Given the description of an element on the screen output the (x, y) to click on. 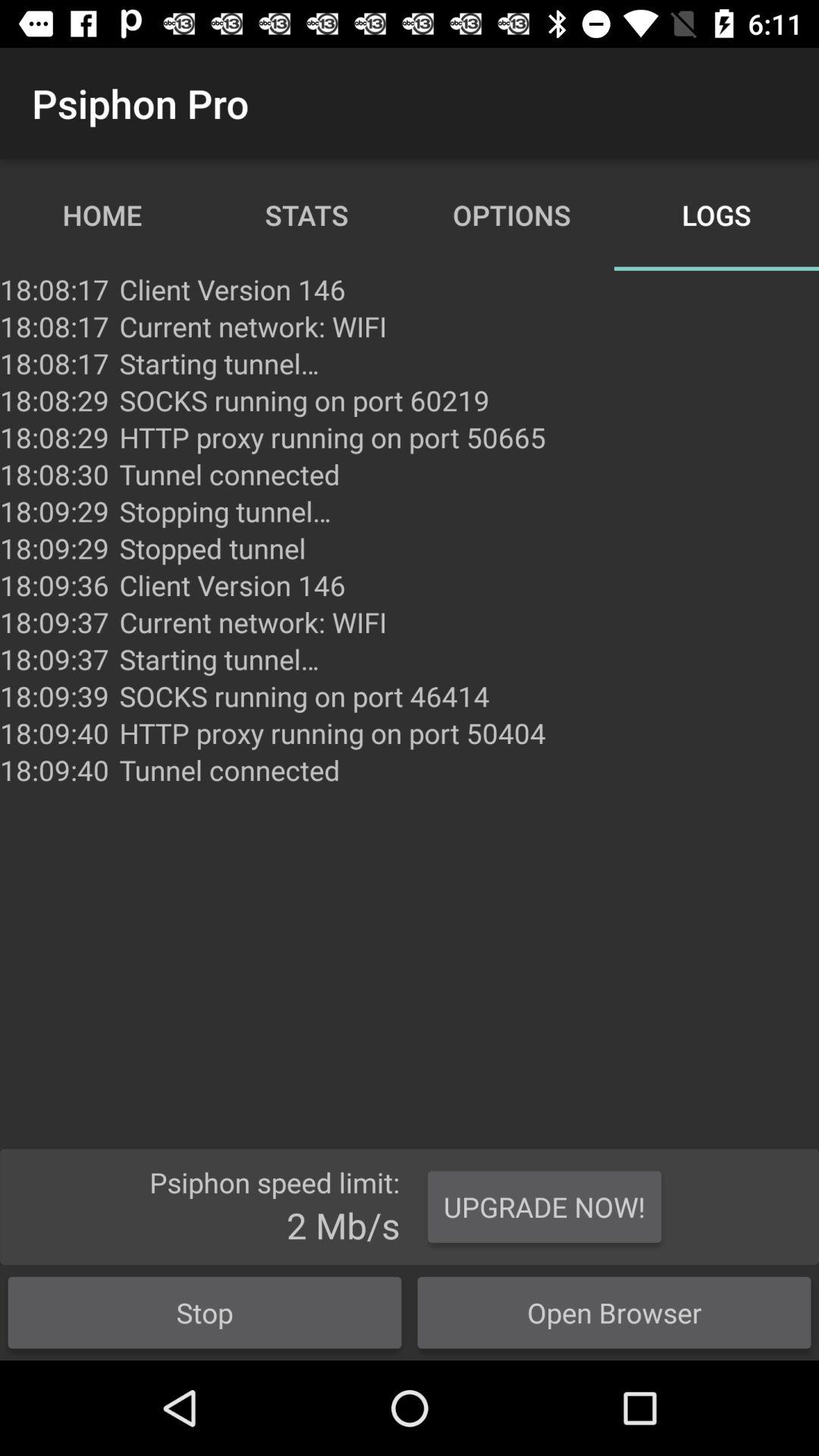
select icon to the right of the stop icon (544, 1206)
